Given the description of an element on the screen output the (x, y) to click on. 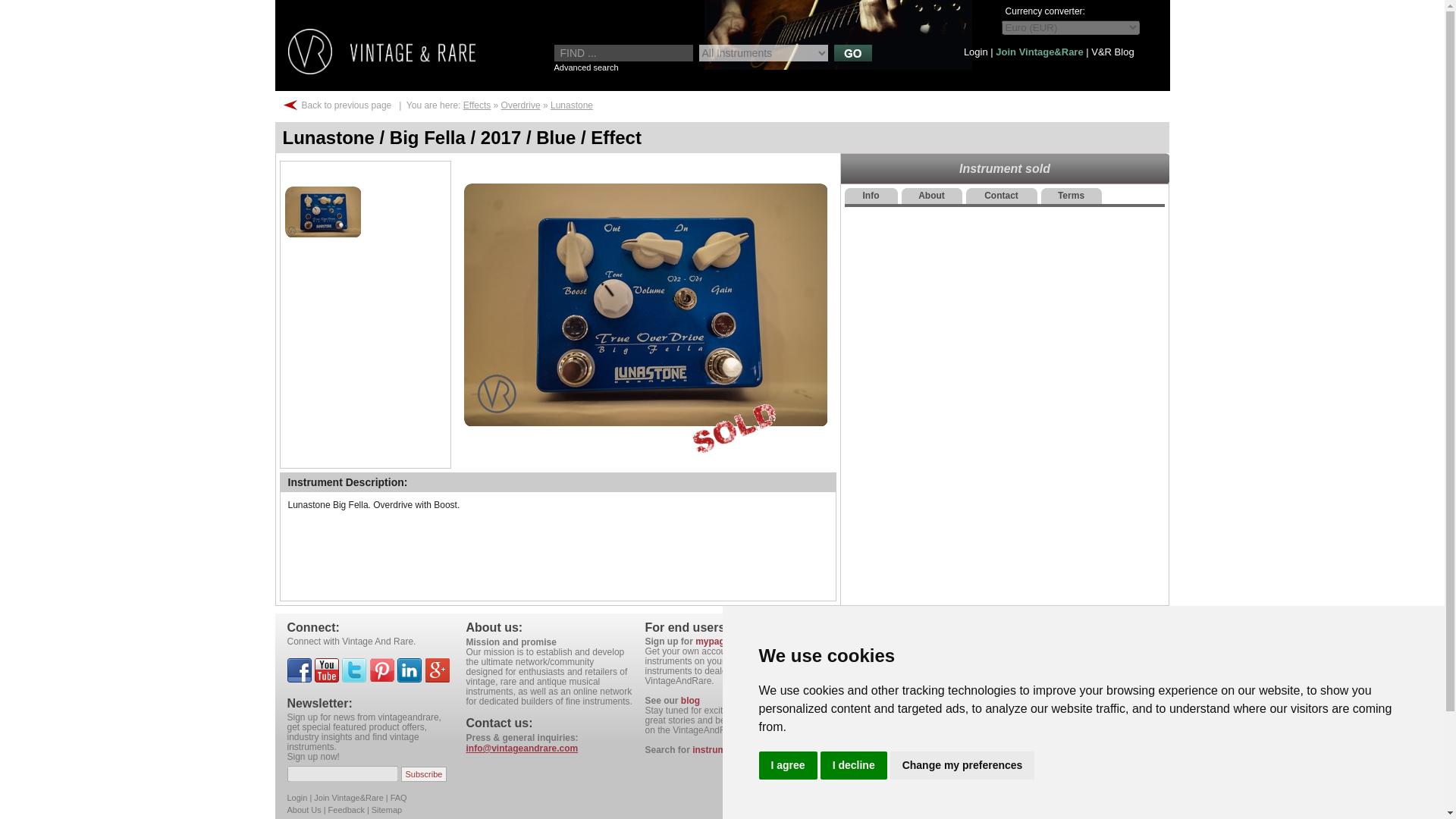
Lunastone (571, 104)
About (930, 195)
Login (975, 51)
1 (322, 210)
Login (975, 51)
Instrument Description: (347, 481)
Lunastone (571, 104)
Contact (1001, 195)
Effects (476, 104)
Lunastone-Big Fella-2017-Blue (322, 210)
Back to previous page (346, 104)
Lunastone-Big Fella-2017-Blue (645, 304)
Effects (476, 104)
Info (871, 195)
Subscribe (423, 773)
